Given the description of an element on the screen output the (x, y) to click on. 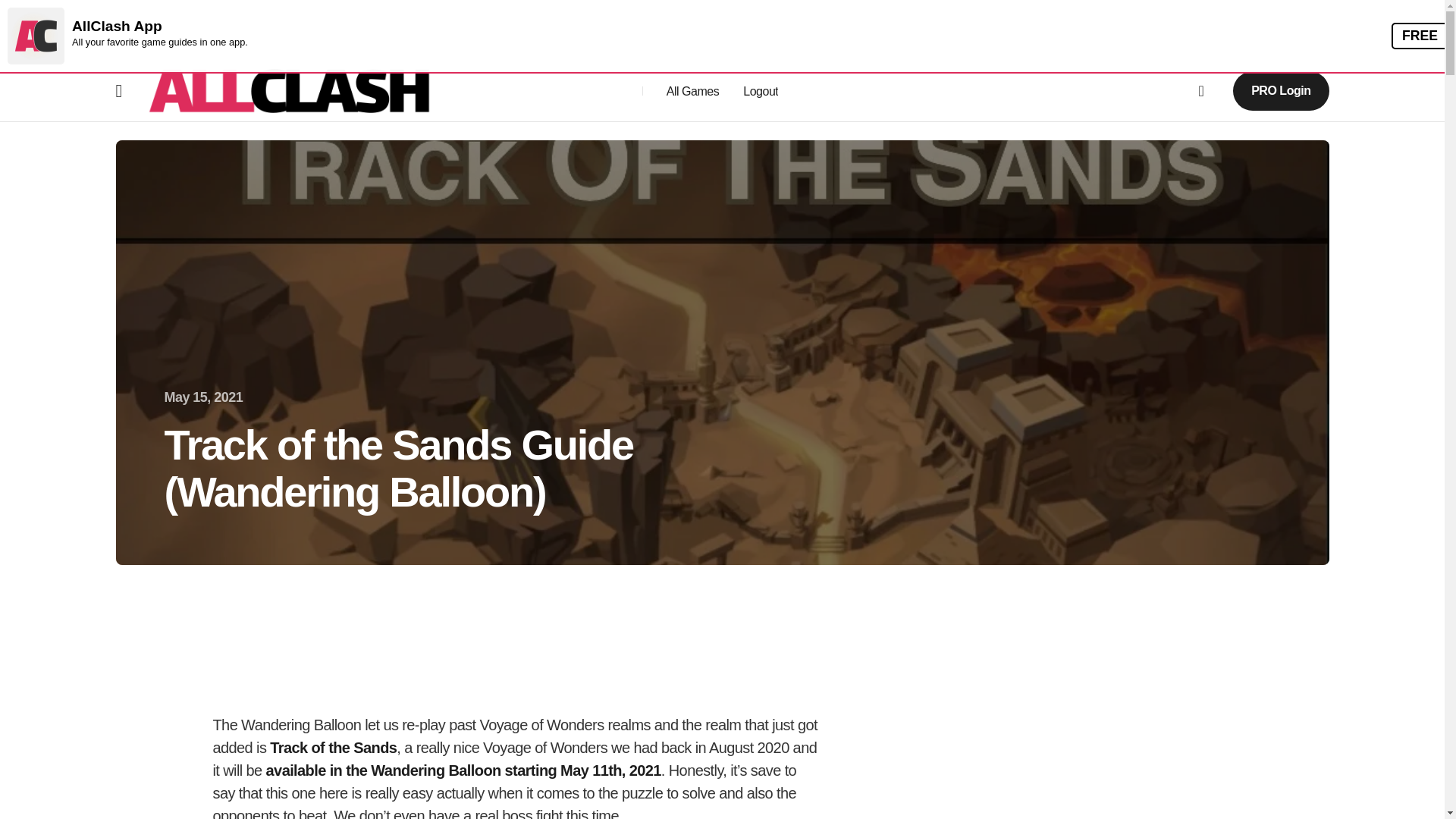
PRO Login (1280, 90)
